Given the description of an element on the screen output the (x, y) to click on. 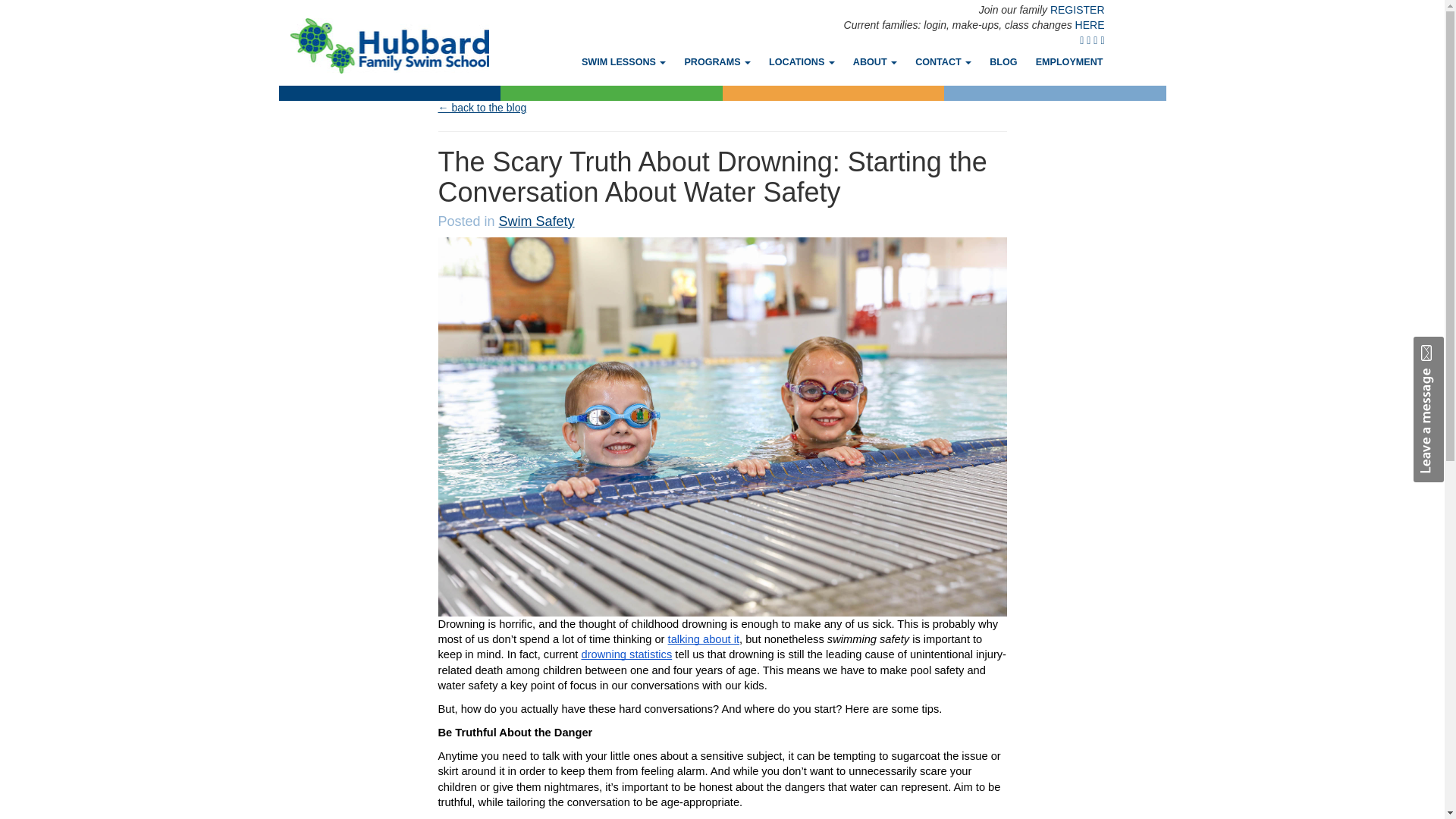
EMPLOYMENT (1069, 61)
BLOG (1003, 61)
HERE (1090, 24)
REGISTER (1077, 9)
